Given the description of an element on the screen output the (x, y) to click on. 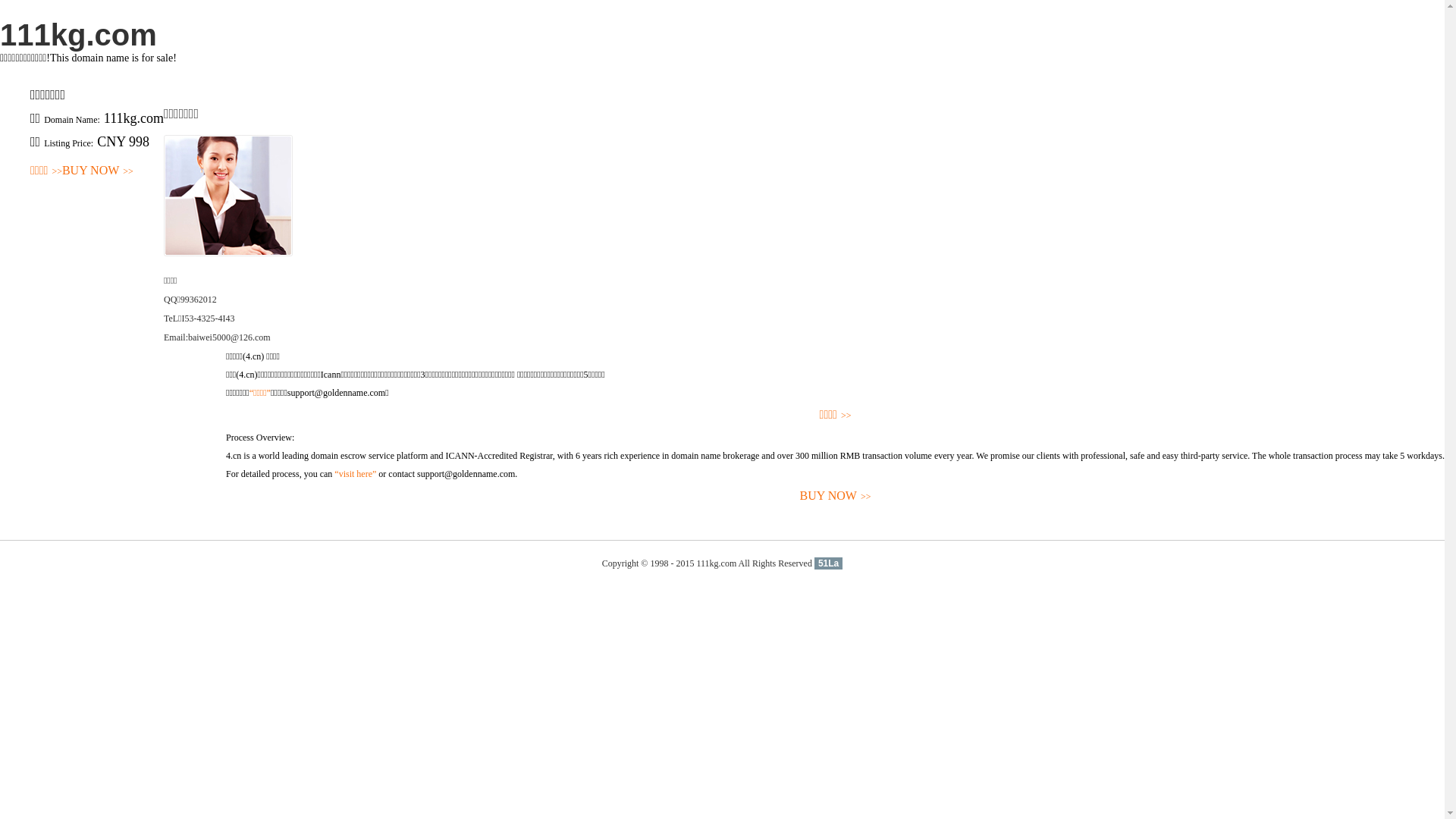
BUY NOW>> Element type: text (834, 496)
51La Element type: text (828, 563)
BUY NOW>> Element type: text (97, 170)
